Given the description of an element on the screen output the (x, y) to click on. 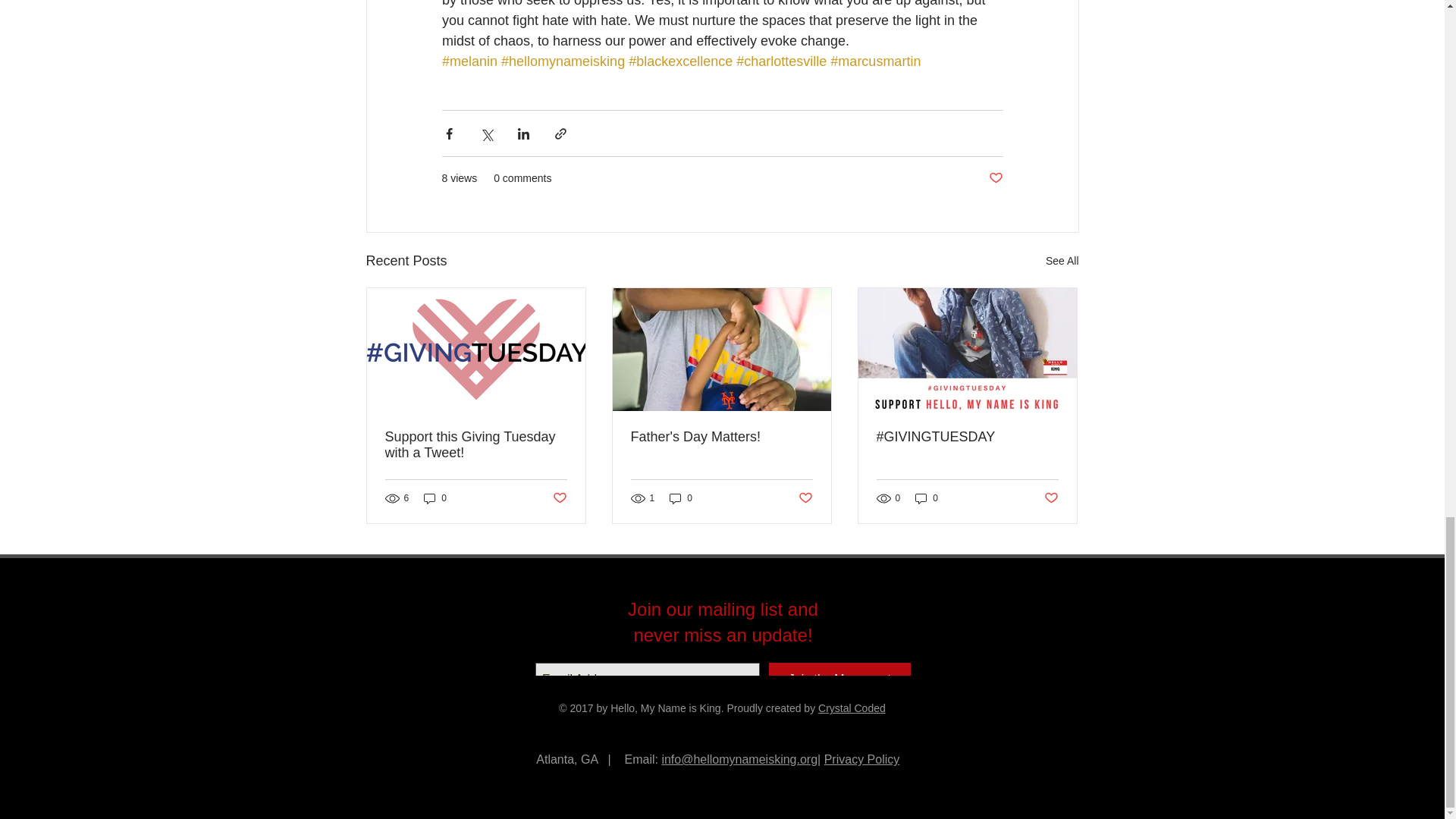
Post not marked as liked (804, 498)
Support this Giving Tuesday with a Tweet! (476, 445)
0 (926, 498)
See All (1061, 260)
Crystal Coded (851, 707)
0 (435, 498)
Post not marked as liked (1050, 498)
Wix Get Subscribers (721, 630)
0 (681, 498)
Post not marked as liked (995, 178)
